Given the description of an element on the screen output the (x, y) to click on. 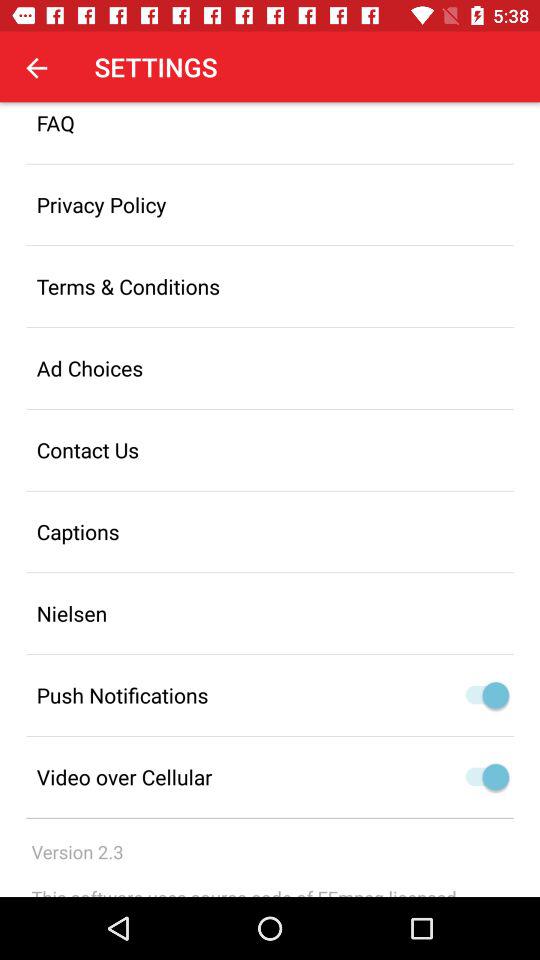
press the terms & conditions item (270, 286)
